Given the description of an element on the screen output the (x, y) to click on. 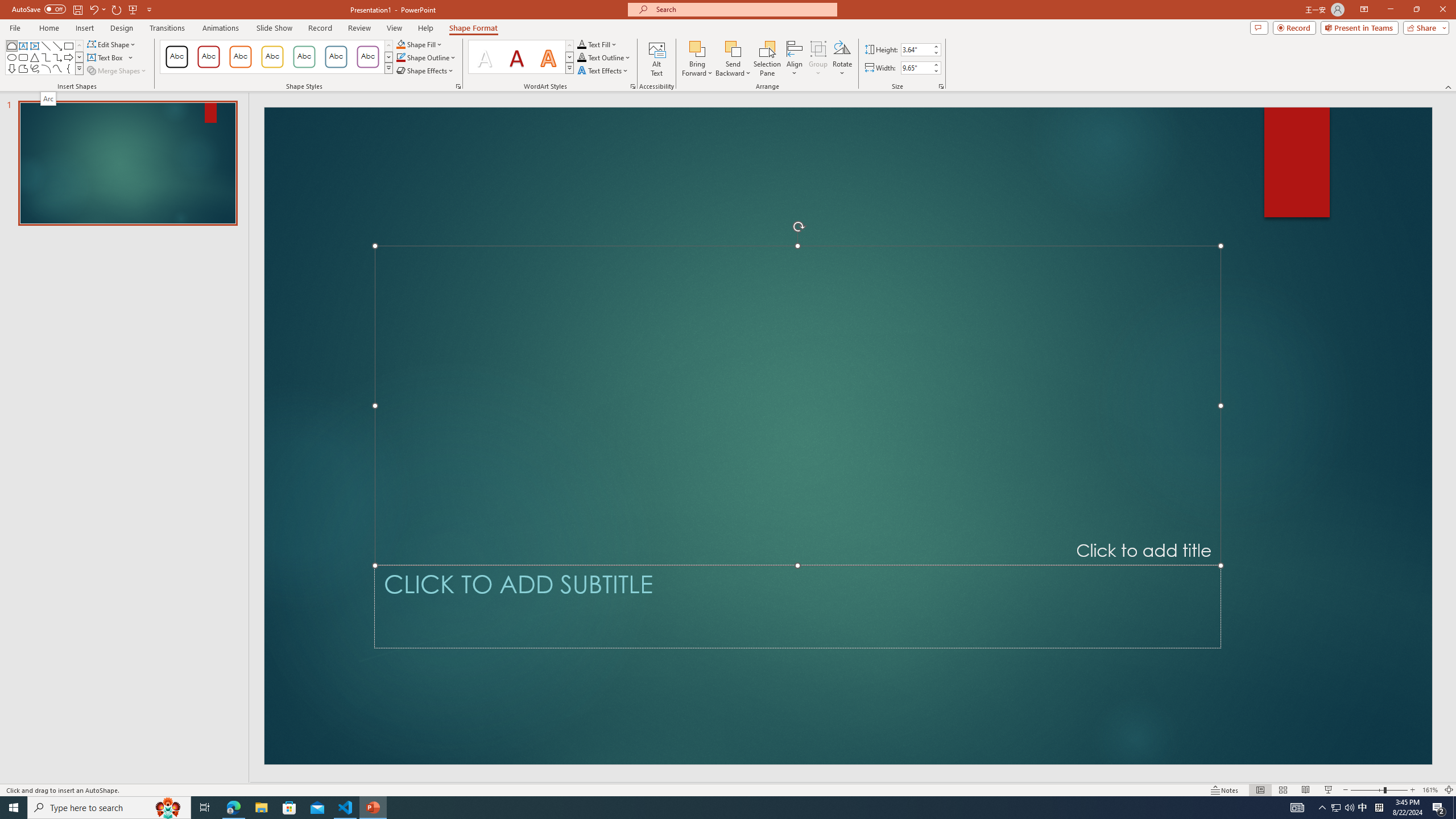
Edit Shape (112, 44)
